Given the description of an element on the screen output the (x, y) to click on. 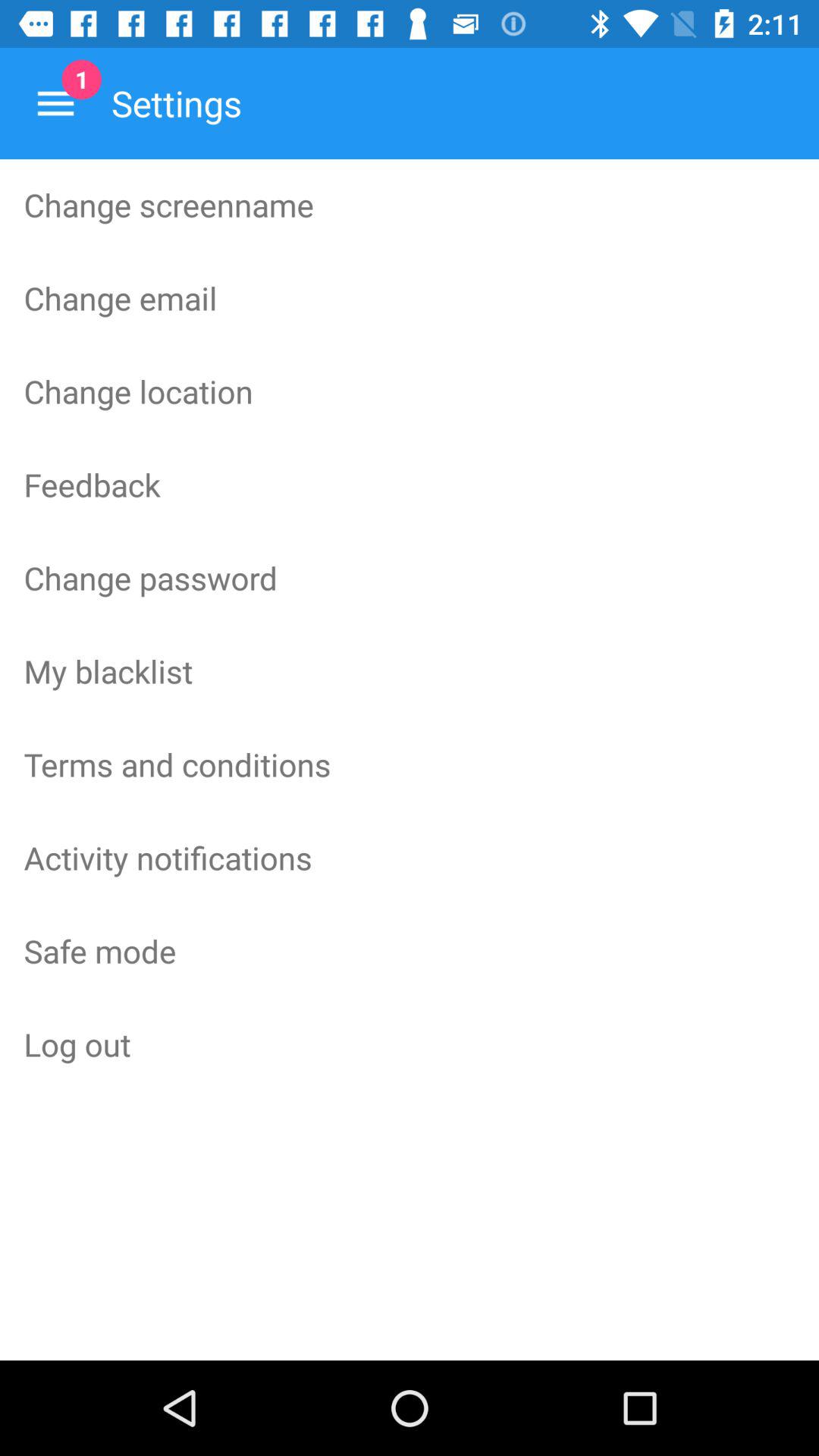
tap the item above the log out icon (409, 950)
